Given the description of an element on the screen output the (x, y) to click on. 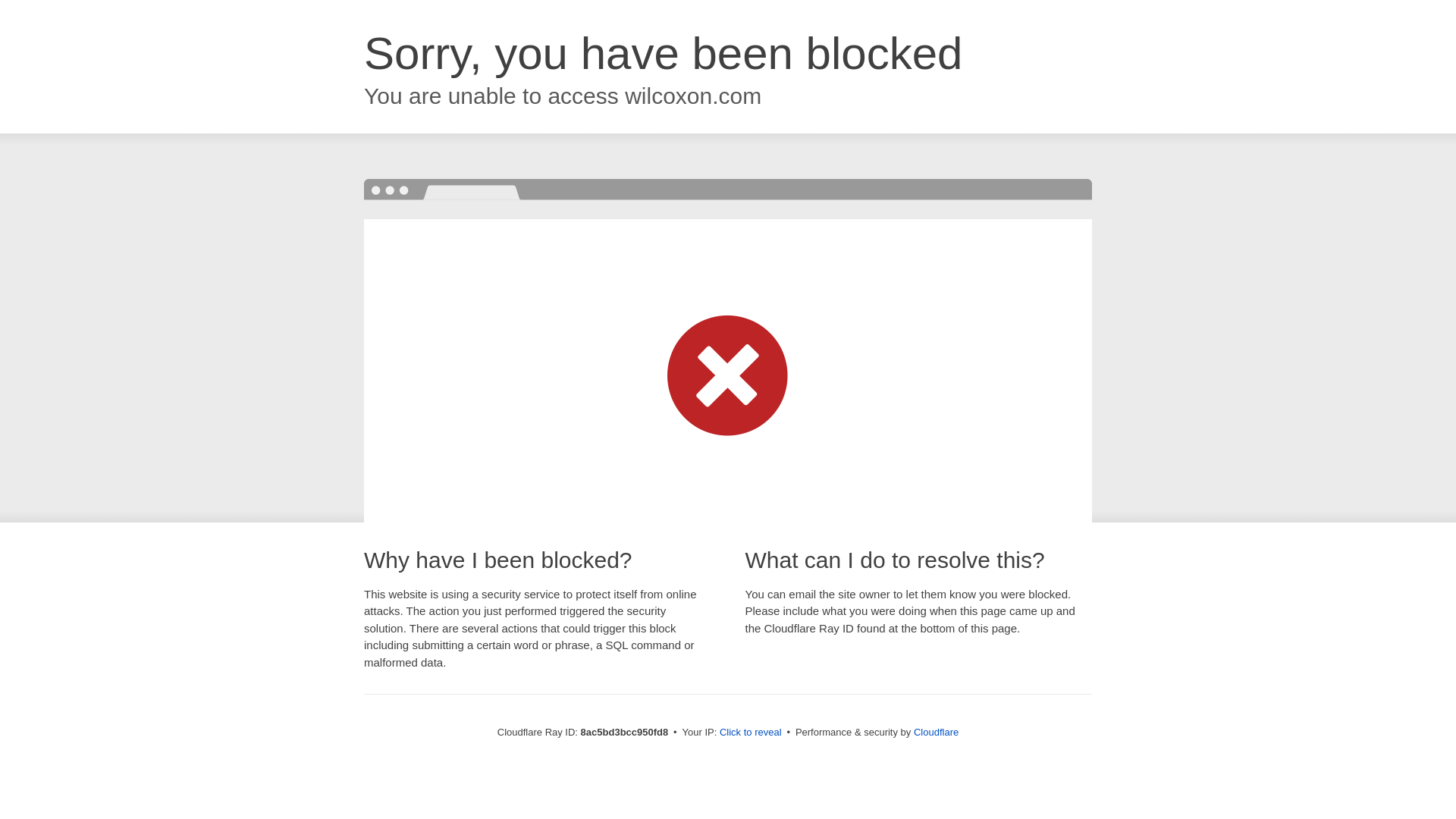
Cloudflare (936, 731)
Click to reveal (750, 732)
